Given the description of an element on the screen output the (x, y) to click on. 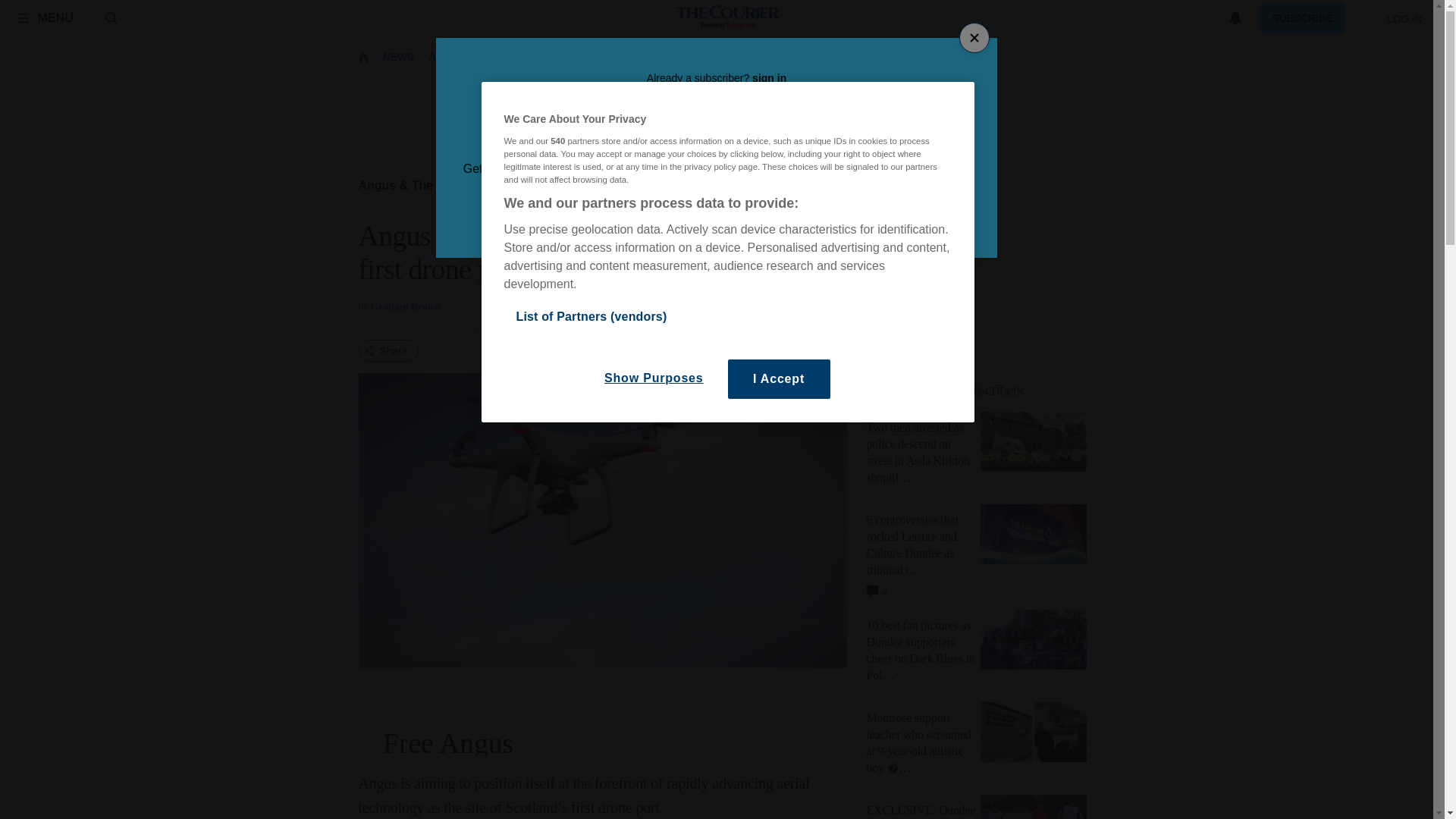
The Courier (727, 17)
2 (876, 587)
Exclusive to our subscribers (981, 389)
MENU (44, 17)
Exclusive to our subscribers (944, 389)
